Given the description of an element on the screen output the (x, y) to click on. 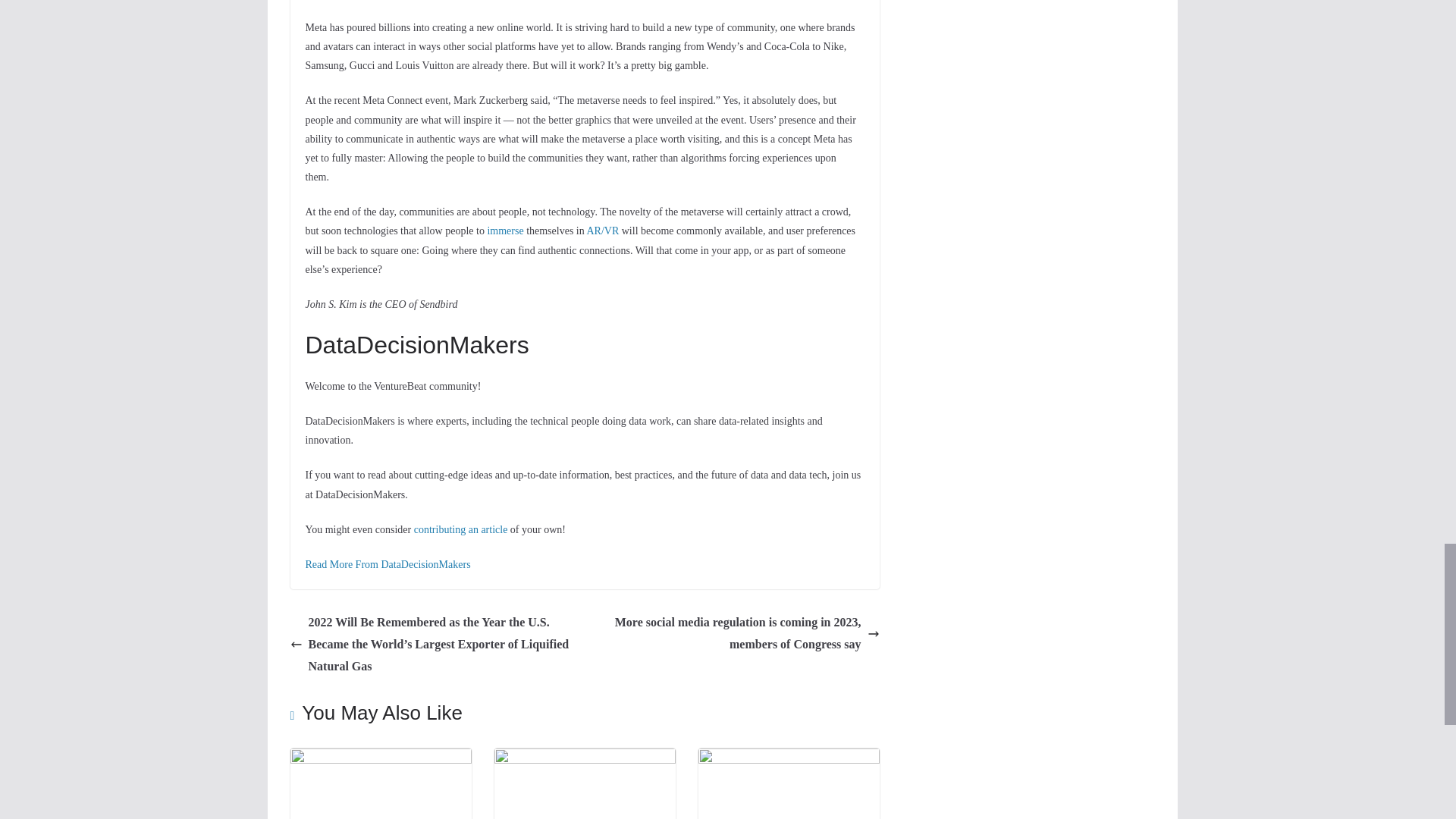
Persona franchise surpasses 10 million copies sold (379, 758)
immerse (504, 230)
contributing an article (460, 529)
